Given the description of an element on the screen output the (x, y) to click on. 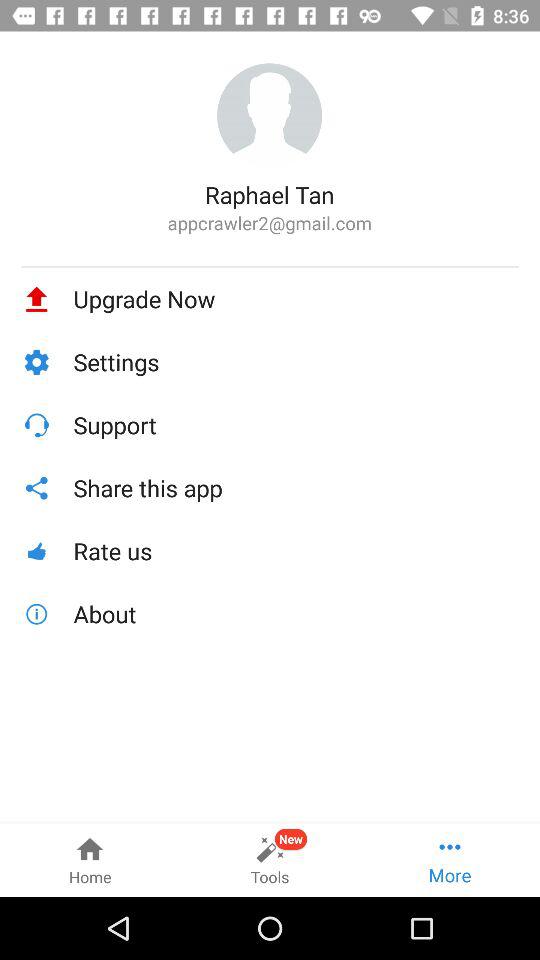
turn off the support icon (296, 424)
